Given the description of an element on the screen output the (x, y) to click on. 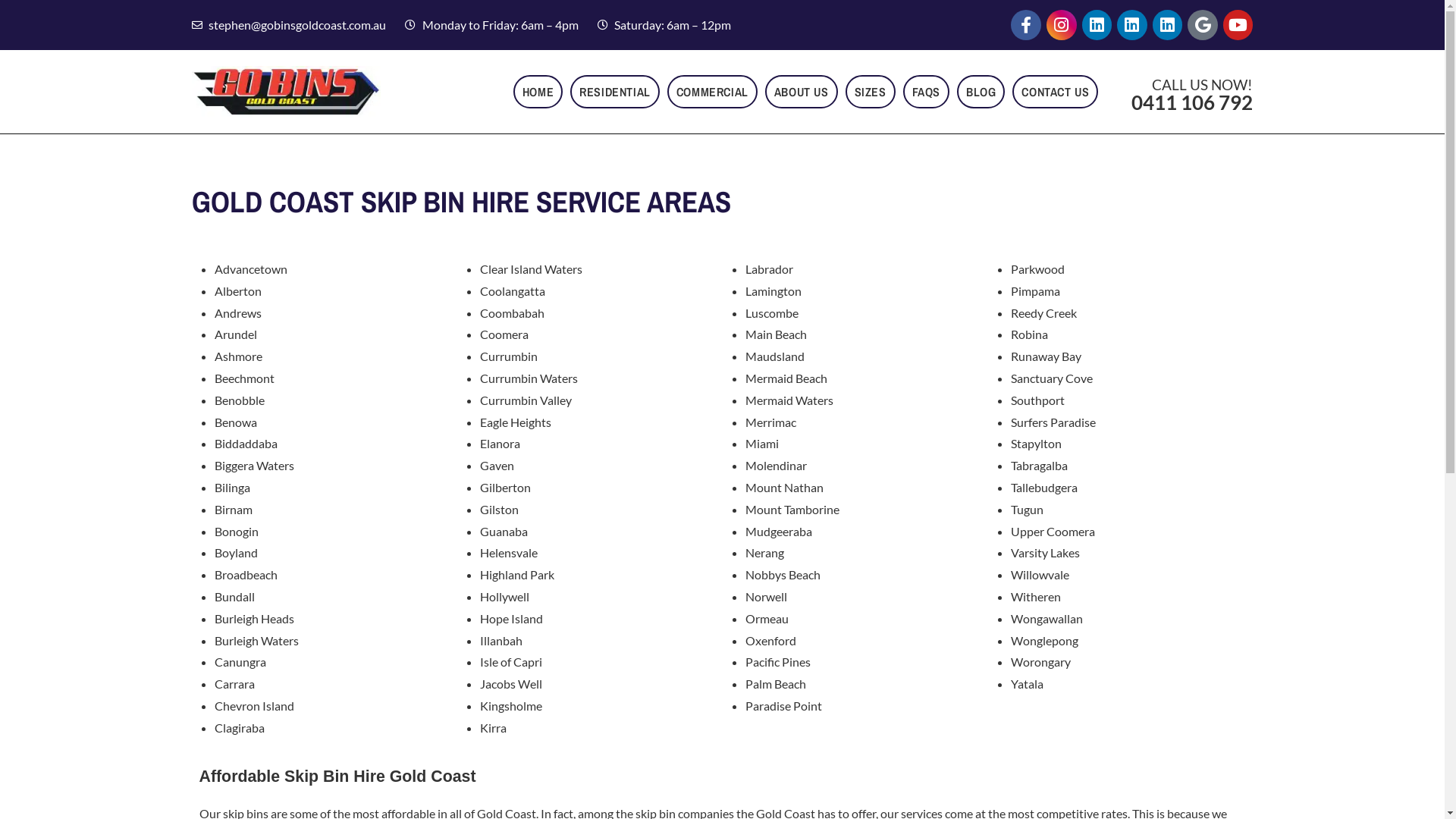
COMMERCIAL Element type: text (712, 91)
Tallebudgera Element type: text (1043, 487)
Wongawallan Element type: text (1046, 618)
Elanora Element type: text (499, 443)
Stapylton Element type: text (1035, 443)
Palm Beach Element type: text (774, 683)
Pacific Pines Element type: text (776, 661)
Hope Island Element type: text (510, 618)
Worongary Element type: text (1040, 661)
stephen@gobinsgoldcoast.com.au Element type: text (288, 25)
Southport Element type: text (1036, 399)
Pimpama Element type: text (1034, 290)
SIZES Element type: text (870, 91)
Coolangatta Element type: text (511, 290)
Broadbeach Element type: text (244, 574)
Paradise Point Element type: text (782, 705)
Burleigh Heads Element type: text (253, 618)
Biggera Waters Element type: text (253, 465)
HOME Element type: text (537, 91)
Ashmore Element type: text (237, 355)
CONTACT US Element type: text (1055, 91)
RESIDENTIAL Element type: text (614, 91)
Coomera Element type: text (503, 333)
Surfers Paradise Element type: text (1052, 421)
BLOG Element type: text (980, 91)
Benowa Element type: text (234, 421)
0411 106 792 Element type: text (1191, 102)
Robina Element type: text (1028, 333)
Upper Coomera Element type: text (1052, 531)
ABOUT US Element type: text (801, 91)
FAQS Element type: text (926, 91)
Main Beach Element type: text (775, 333)
Jacobs Well Element type: text (510, 683)
